Given the description of an element on the screen output the (x, y) to click on. 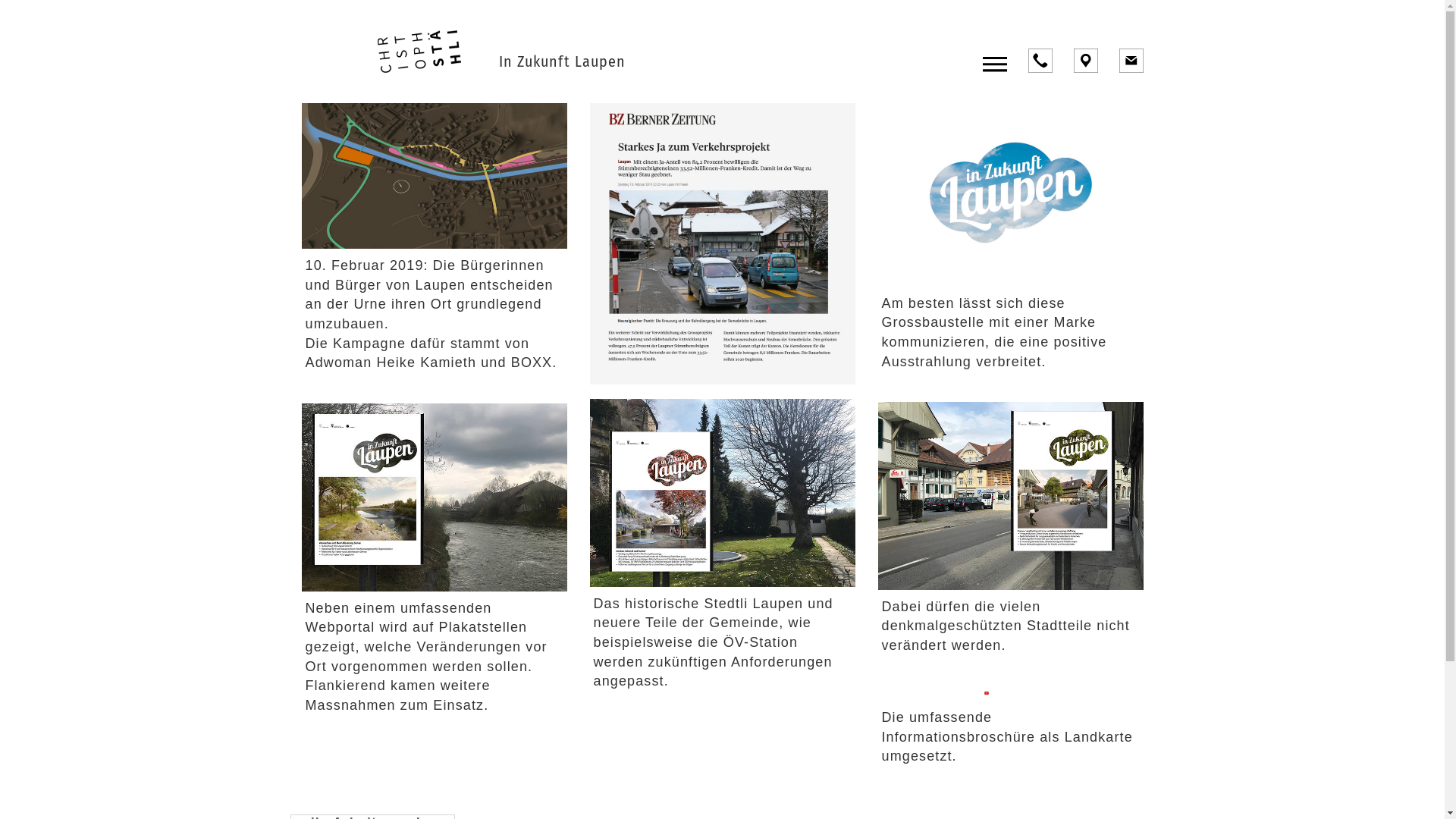
Anrufen Element type: hover (1040, 60)
E-Mail Element type: hover (1131, 60)
Toggle navigation Element type: text (994, 63)
Location Element type: hover (1085, 60)
